Given the description of an element on the screen output the (x, y) to click on. 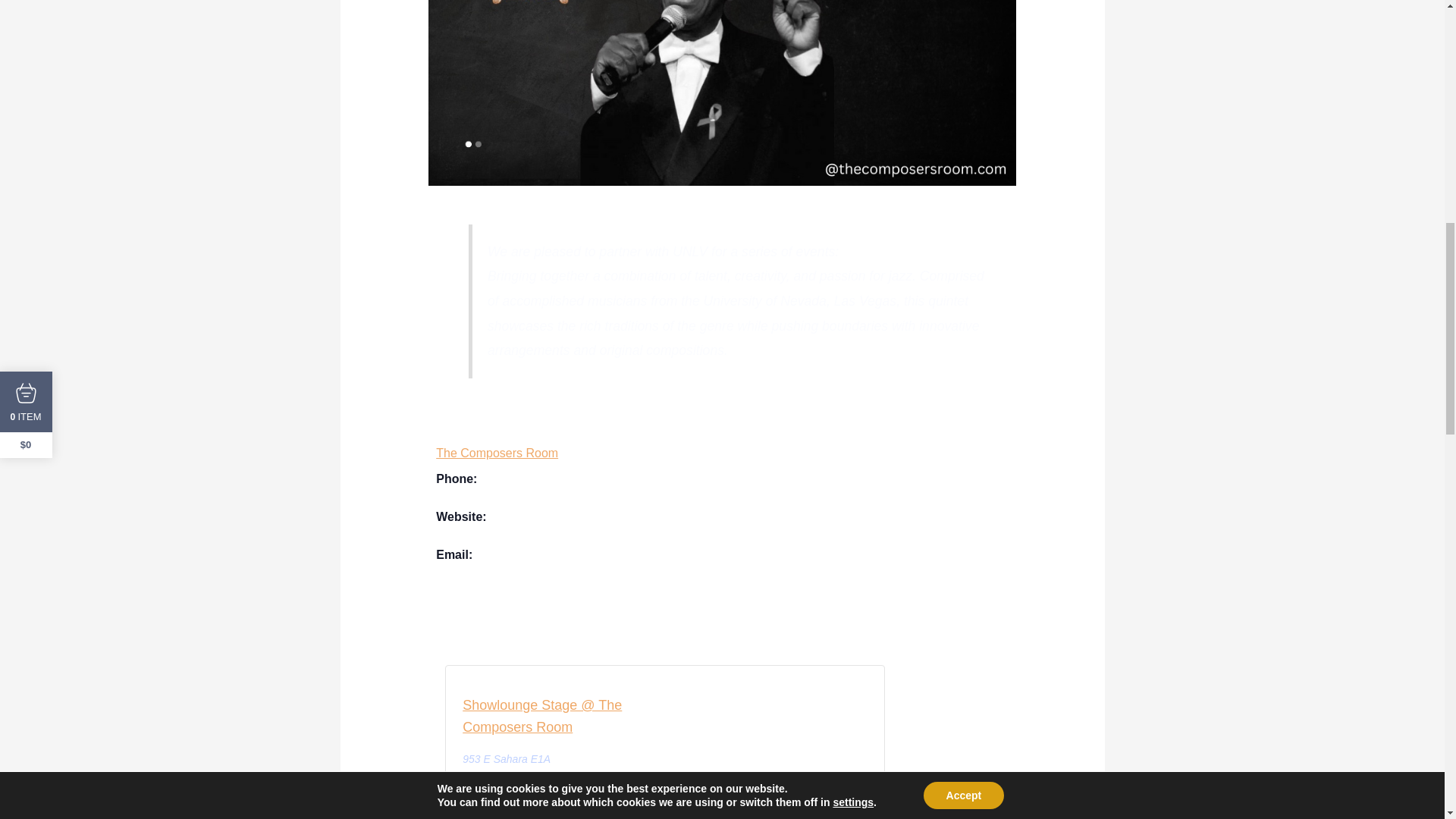
Nevada (525, 776)
Click to view a Google Map (496, 793)
The Composers Room (496, 452)
